Given the description of an element on the screen output the (x, y) to click on. 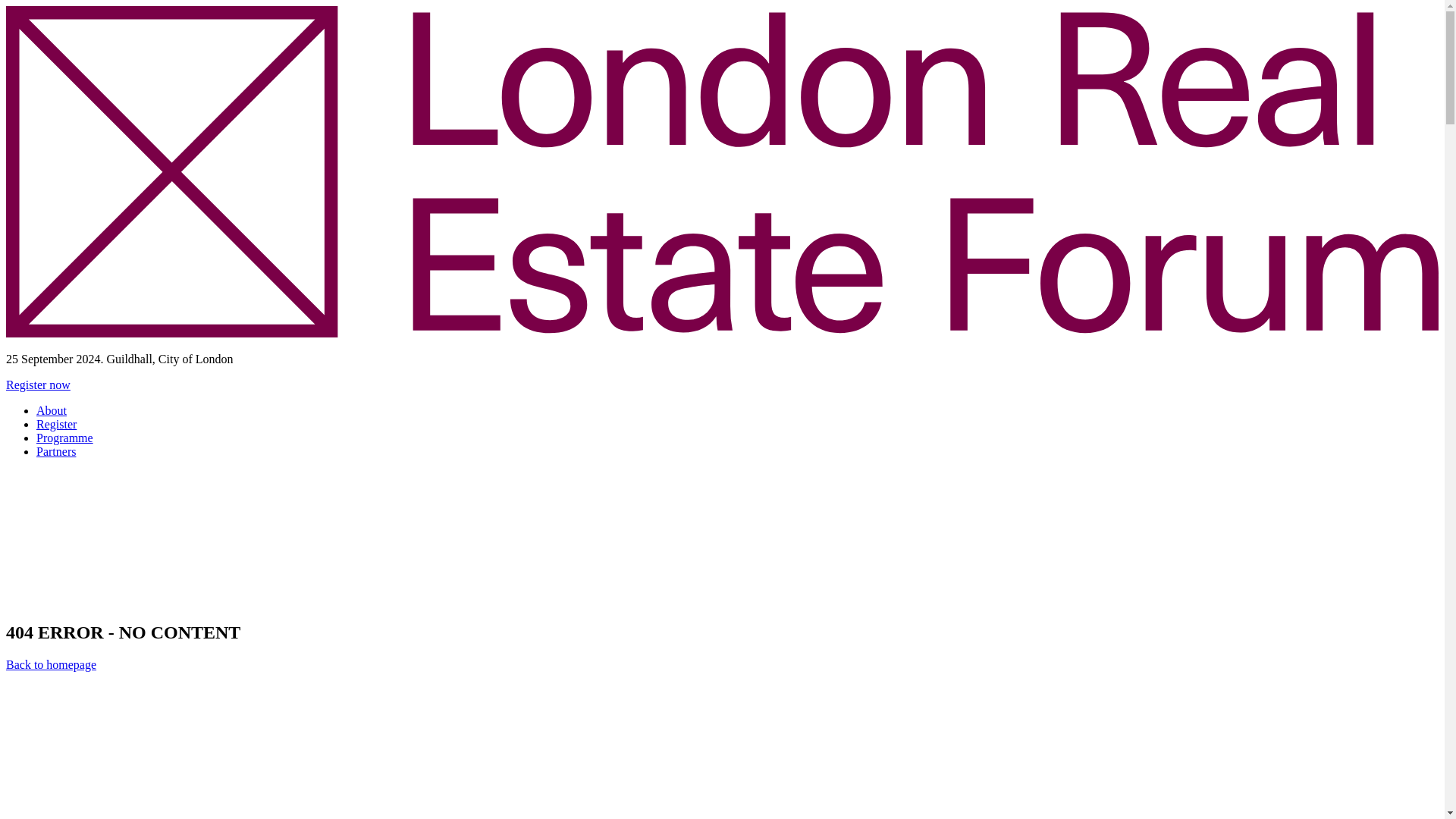
Register (56, 423)
Register now (37, 384)
About (51, 410)
Back to homepage (50, 664)
Programme (64, 437)
Partners (55, 451)
